Given the description of an element on the screen output the (x, y) to click on. 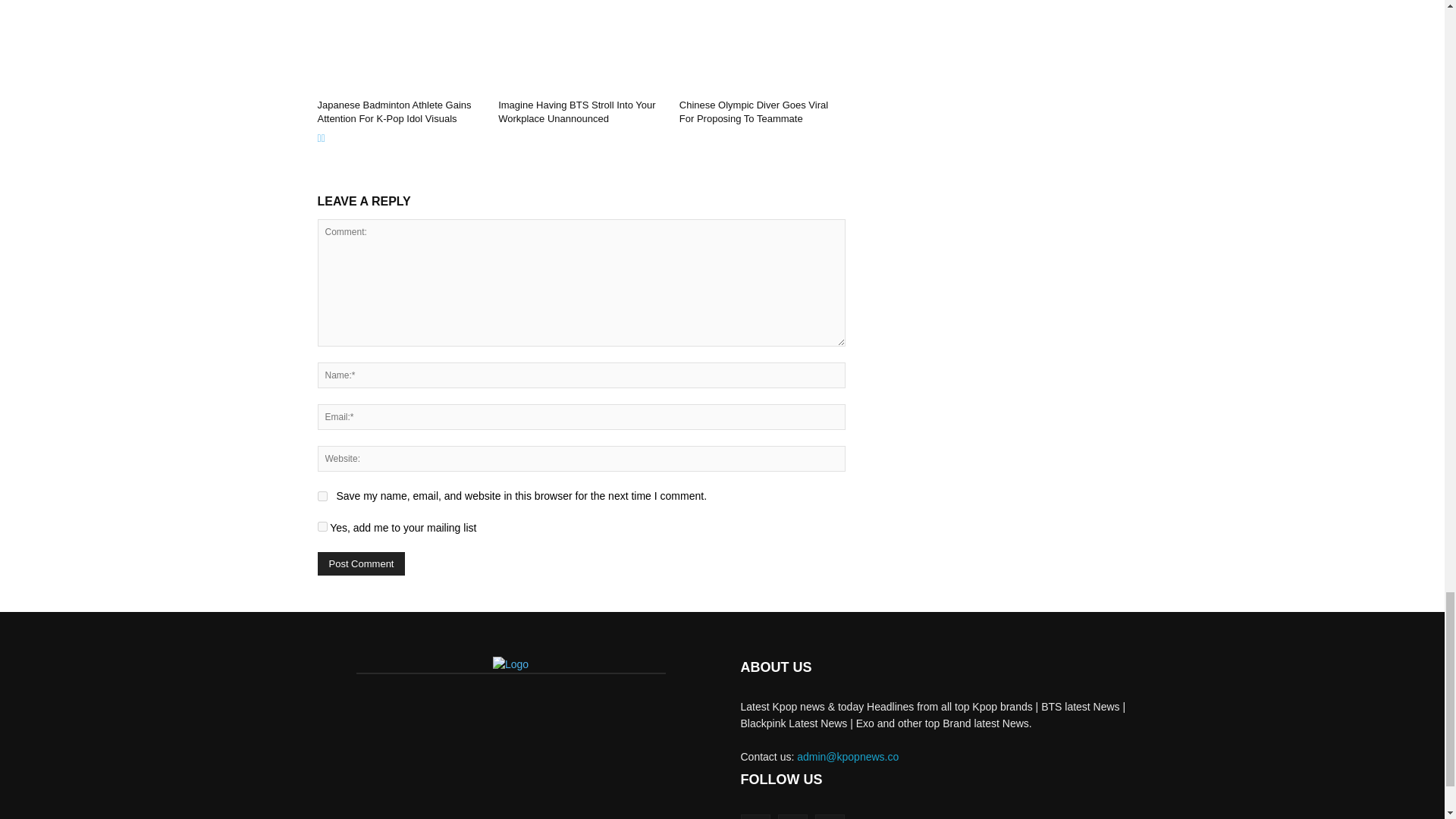
yes (321, 496)
Post Comment (360, 563)
1 (321, 526)
